Given the description of an element on the screen output the (x, y) to click on. 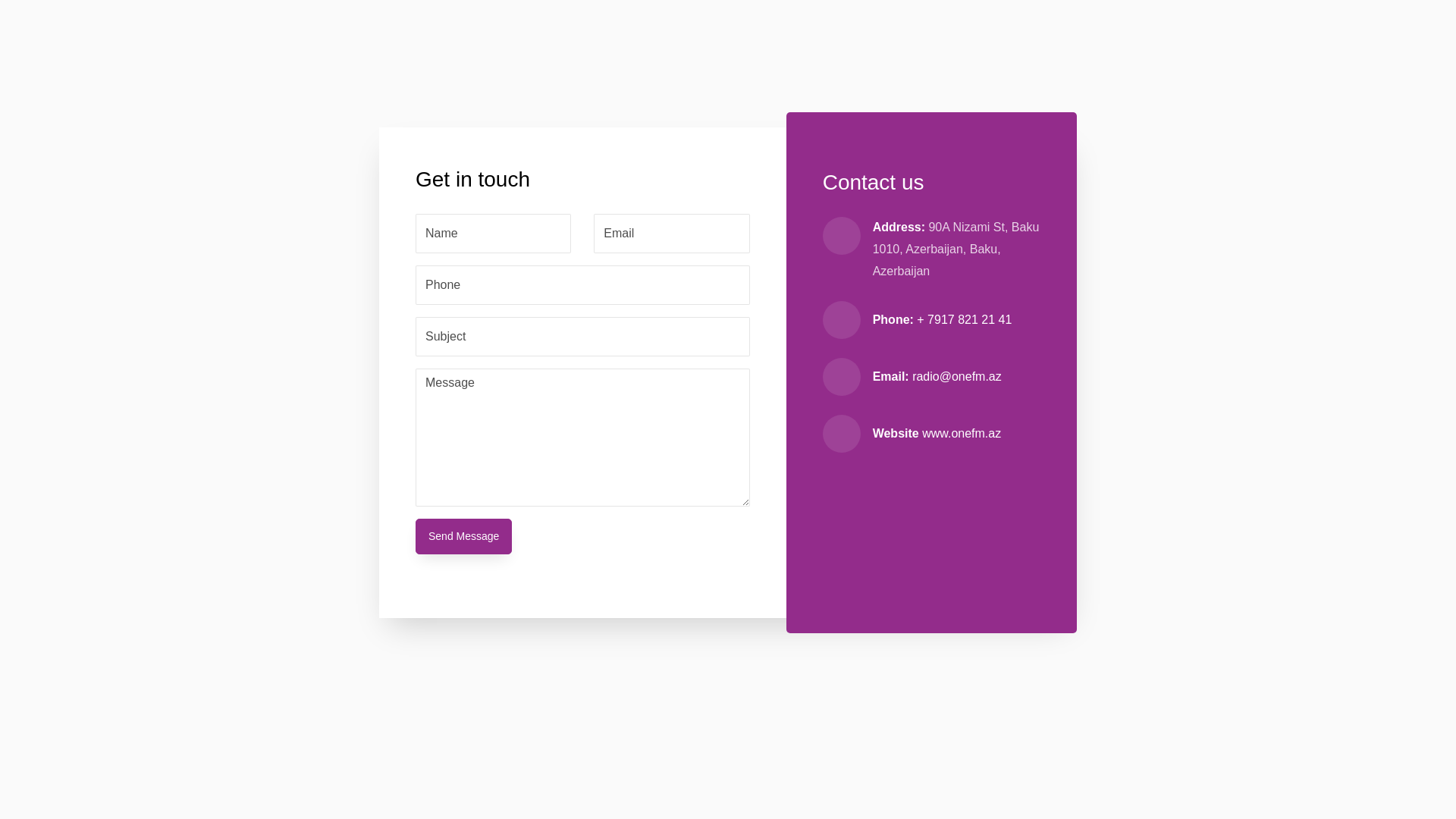
Send Message Element type: text (463, 536)
www.onefm.az Element type: text (961, 432)
radio@onefm.az Element type: text (956, 376)
+ 7917 821 21 41 Element type: text (963, 319)
